Given the description of an element on the screen output the (x, y) to click on. 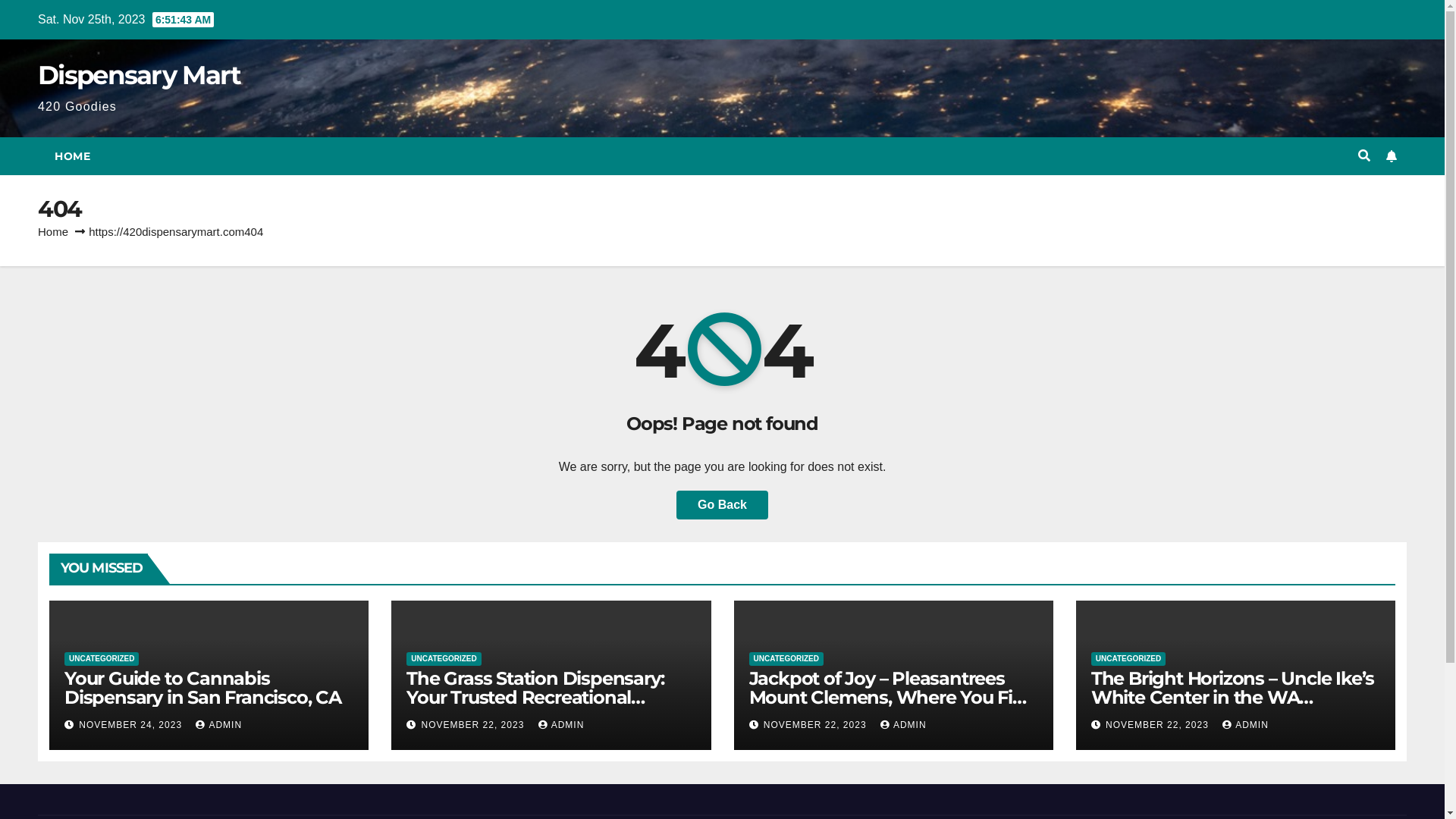
NOVEMBER 22, 2023 Element type: text (474, 724)
NOVEMBER 22, 2023 Element type: text (1158, 724)
ADMIN Element type: text (218, 724)
NOVEMBER 22, 2023 Element type: text (816, 724)
NOVEMBER 24, 2023 Element type: text (131, 724)
UNCATEGORIZED Element type: text (443, 658)
UNCATEGORIZED Element type: text (786, 658)
HOME Element type: text (71, 156)
ADMIN Element type: text (561, 724)
Home Element type: text (52, 231)
Your Guide to Cannabis Dispensary in San Francisco, CA Element type: text (202, 687)
Go Back Element type: text (722, 504)
UNCATEGORIZED Element type: text (101, 658)
ADMIN Element type: text (903, 724)
Dispensary Mart Element type: text (139, 75)
UNCATEGORIZED Element type: text (1128, 658)
ADMIN Element type: text (1245, 724)
